Given the description of an element on the screen output the (x, y) to click on. 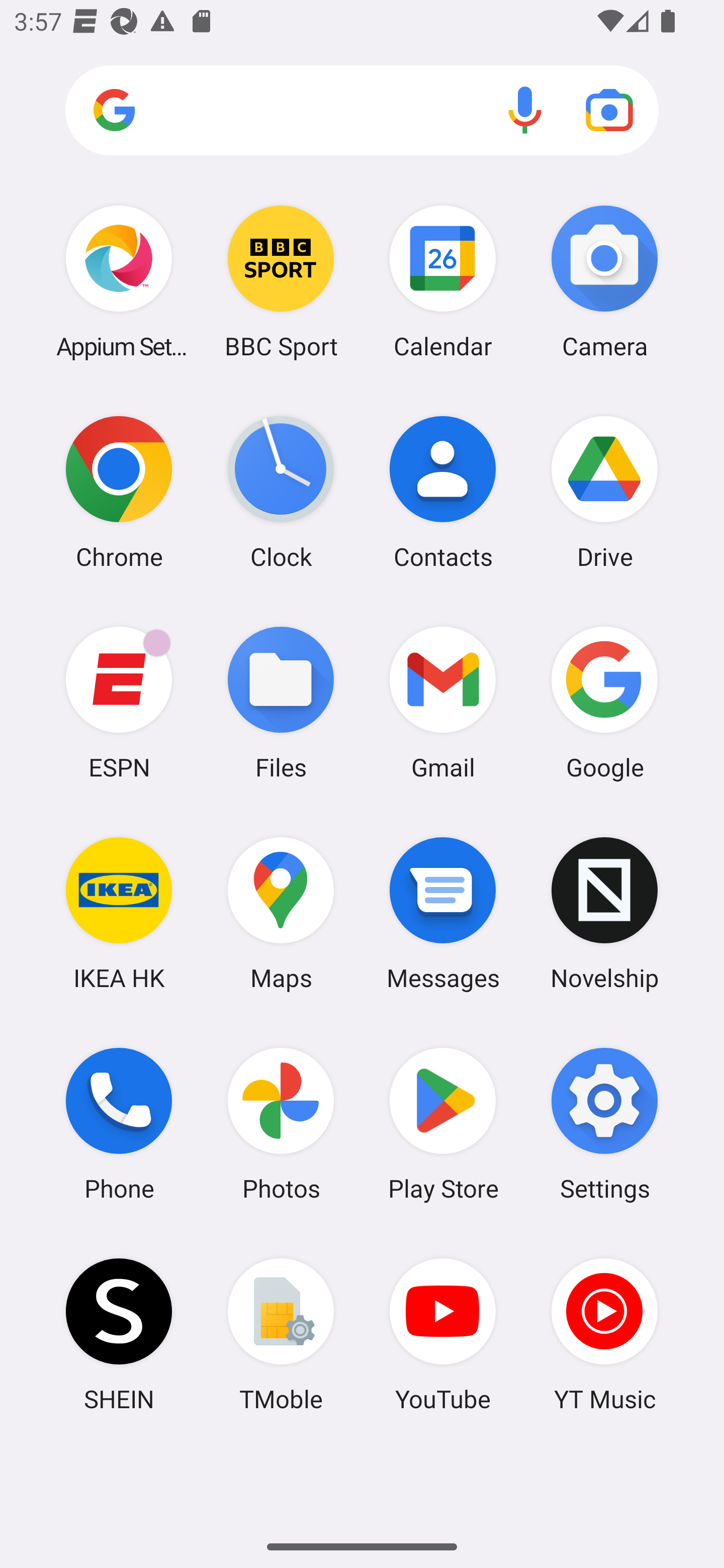
Search apps, web and more (361, 110)
Voice search (524, 109)
Google Lens (608, 109)
Appium Settings (118, 281)
BBC Sport (280, 281)
Calendar (443, 281)
Camera (604, 281)
Chrome (118, 492)
Clock (280, 492)
Contacts (443, 492)
Drive (604, 492)
ESPN ESPN has 3 notifications (118, 702)
Files (280, 702)
Gmail (443, 702)
Google (604, 702)
IKEA HK (118, 913)
Maps (280, 913)
Messages (443, 913)
Novelship (604, 913)
Phone (118, 1124)
Photos (280, 1124)
Play Store (443, 1124)
Settings (604, 1124)
SHEIN (118, 1334)
TMoble (280, 1334)
YouTube (443, 1334)
YT Music (604, 1334)
